Given the description of an element on the screen output the (x, y) to click on. 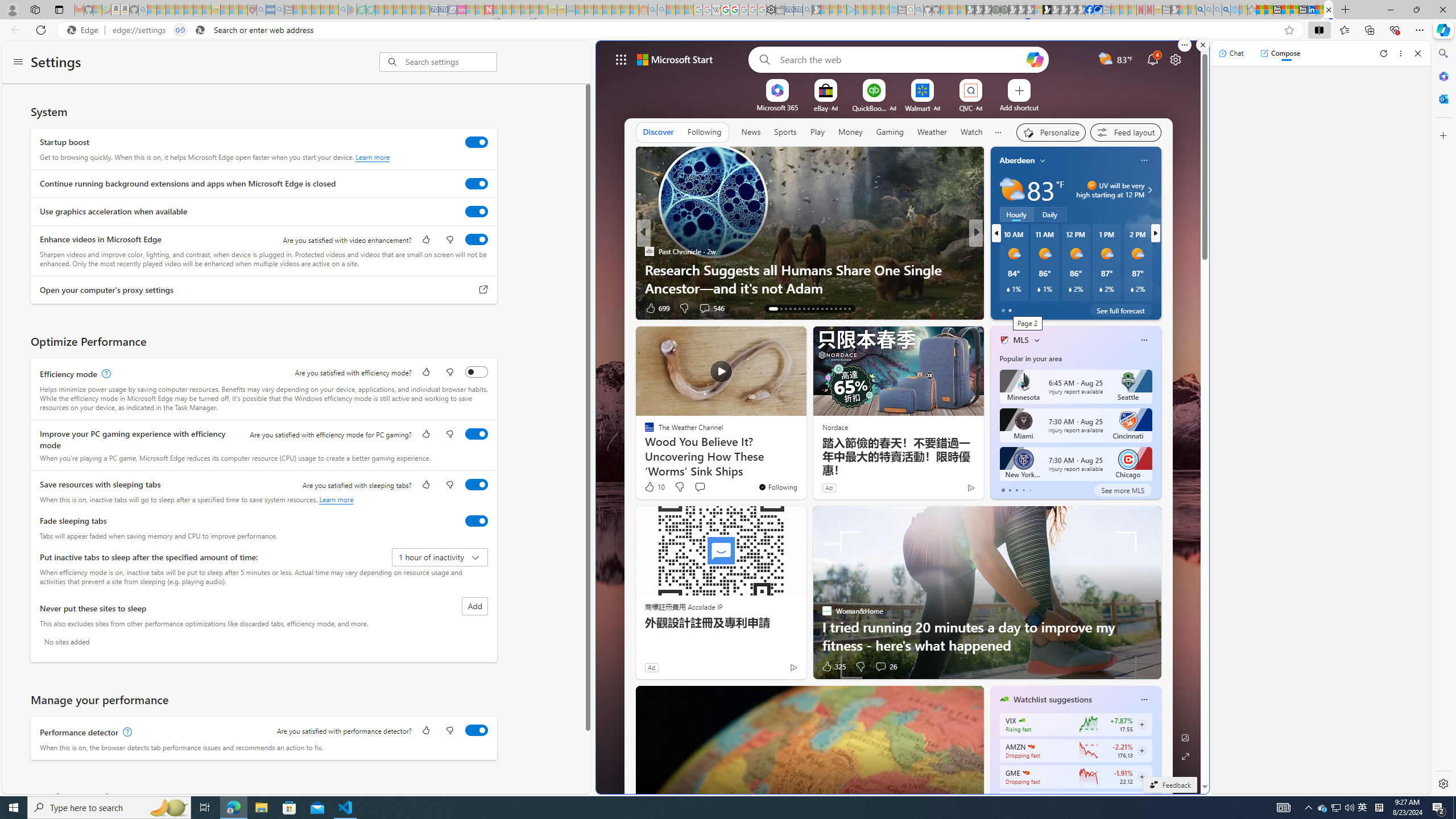
Aberdeen, Hong Kong SAR weather forecast | Microsoft Weather (1268, 9)
Gaming (890, 132)
Bing AI - Search (1200, 9)
Personalize your feed" (1051, 132)
previous (996, 233)
UnifyCosmos (649, 269)
AutomationID: tab-19 (803, 308)
